Given the description of an element on the screen output the (x, y) to click on. 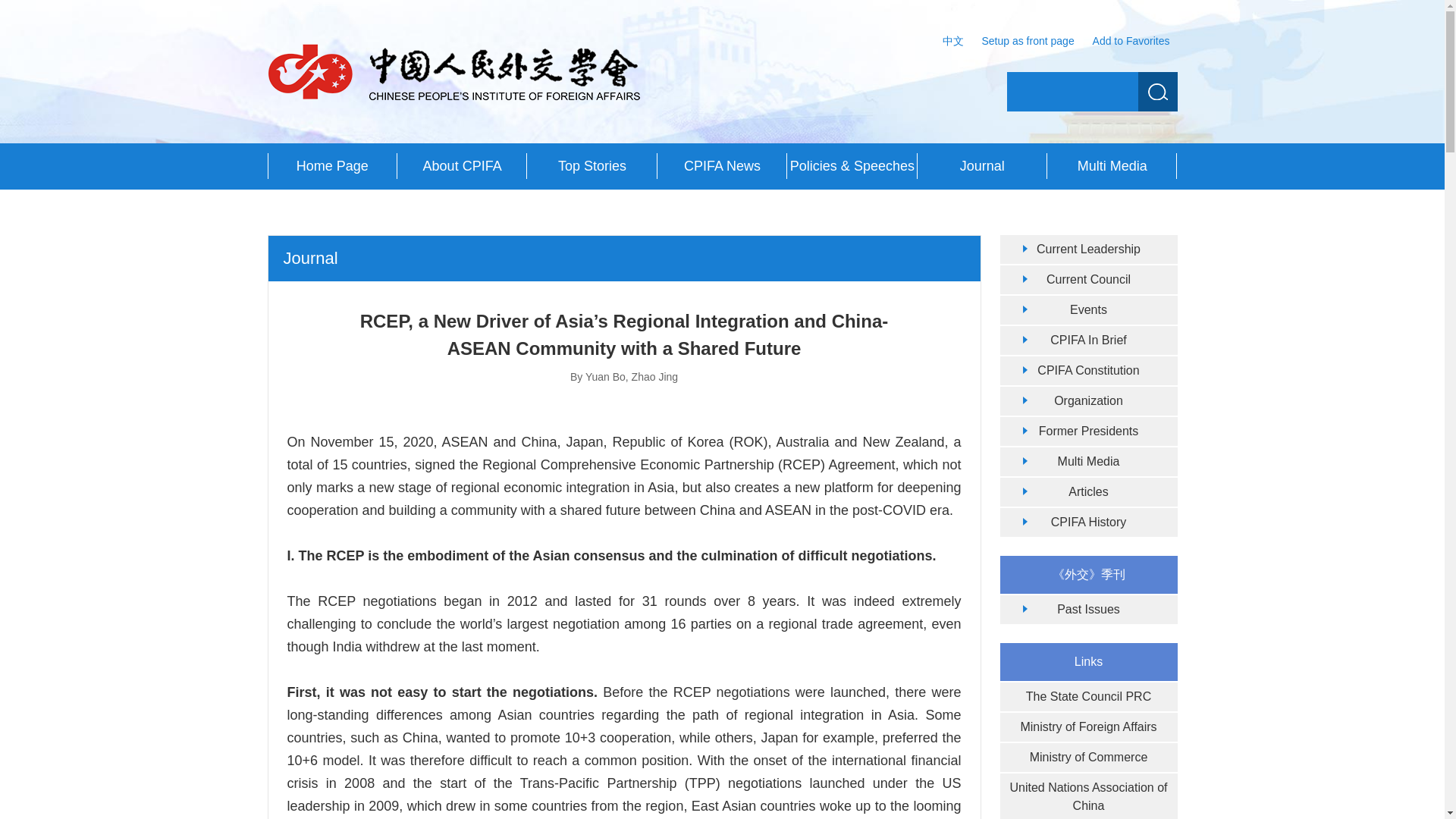
Setup as front page (1027, 40)
About CPIFA (462, 166)
Home Page (331, 166)
Add to Favorites (1131, 40)
Top Stories (591, 166)
Multi Media (1111, 166)
Journal (981, 166)
CPIFA News (722, 166)
